Given the description of an element on the screen output the (x, y) to click on. 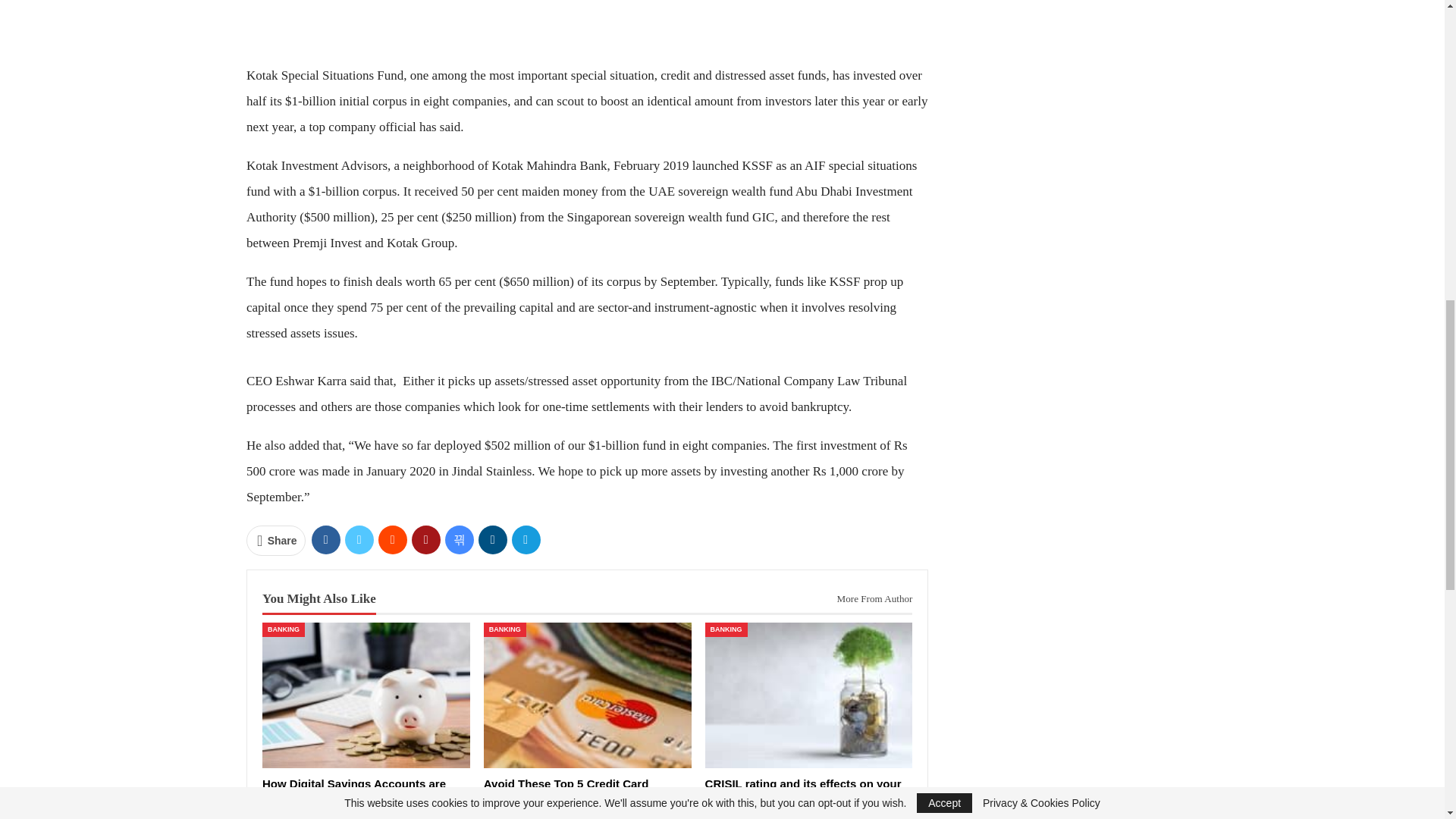
Advertisement (587, 27)
Avoid These Top 5 Credit Card Mistakes for Financial Success (567, 791)
CRISIL rating and its effects on your fixed deposit (802, 791)
Avoid These Top 5 Credit Card Mistakes for Financial Success (587, 695)
CRISIL rating and its effects on your fixed deposit (808, 695)
